Given the description of an element on the screen output the (x, y) to click on. 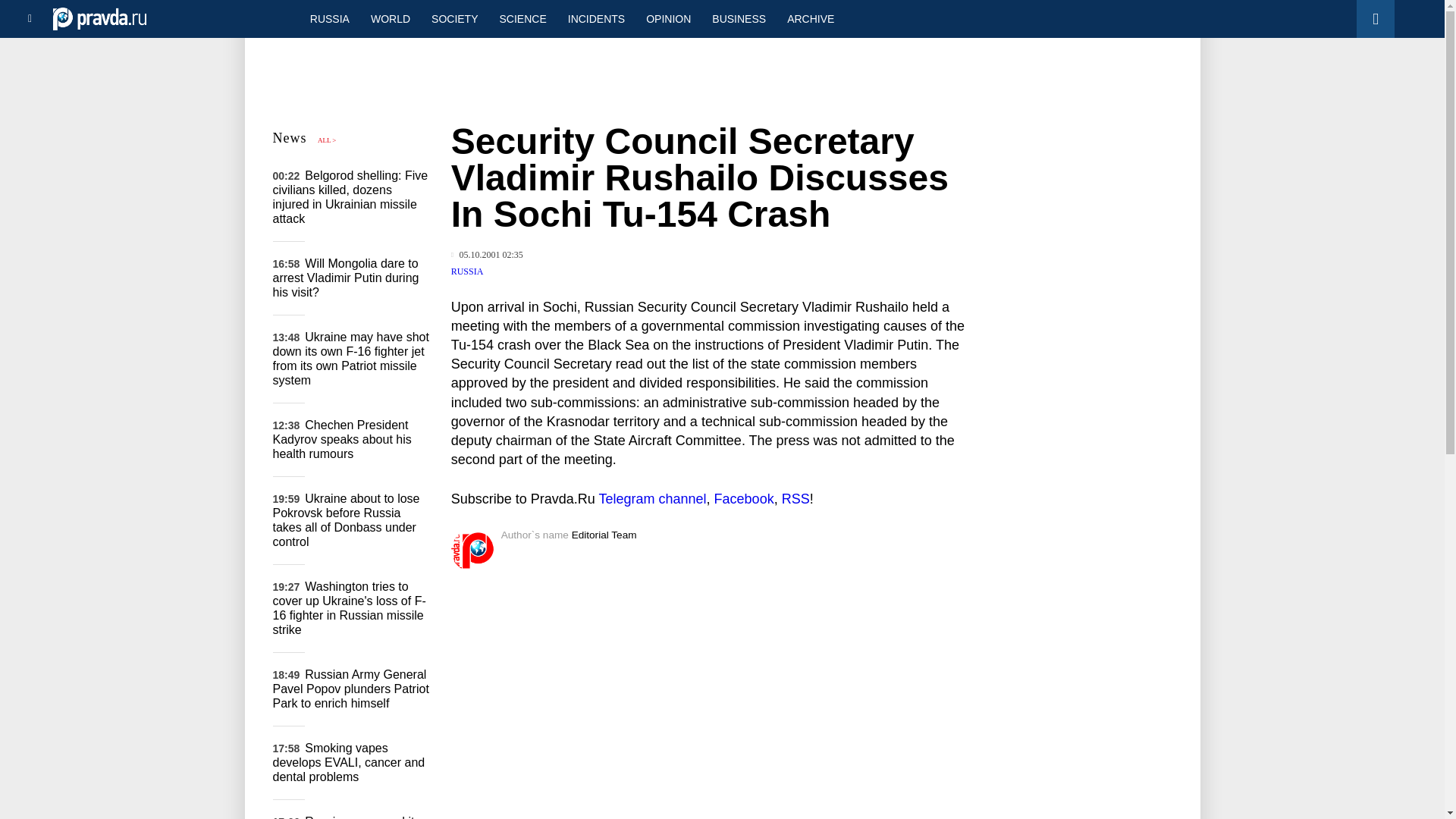
Editorial Team (604, 534)
News (290, 137)
Published (486, 255)
Telegram channel (652, 498)
OPINION (667, 18)
RSS (795, 498)
Chechen President Kadyrov speaks about his health rumours (342, 439)
